Given the description of an element on the screen output the (x, y) to click on. 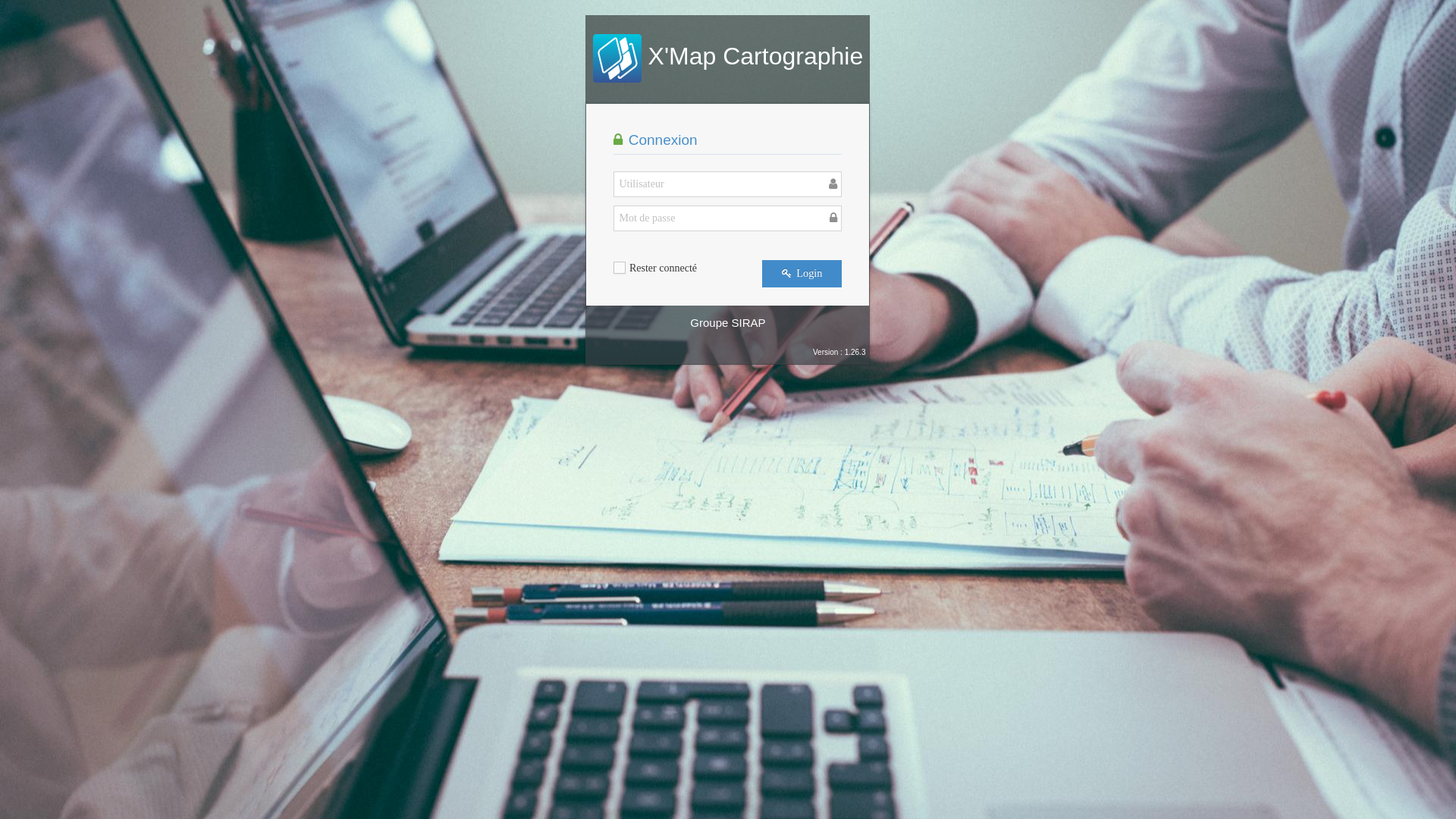
Groupe SIRAP Element type: text (727, 322)
Login Element type: text (801, 273)
